Given the description of an element on the screen output the (x, y) to click on. 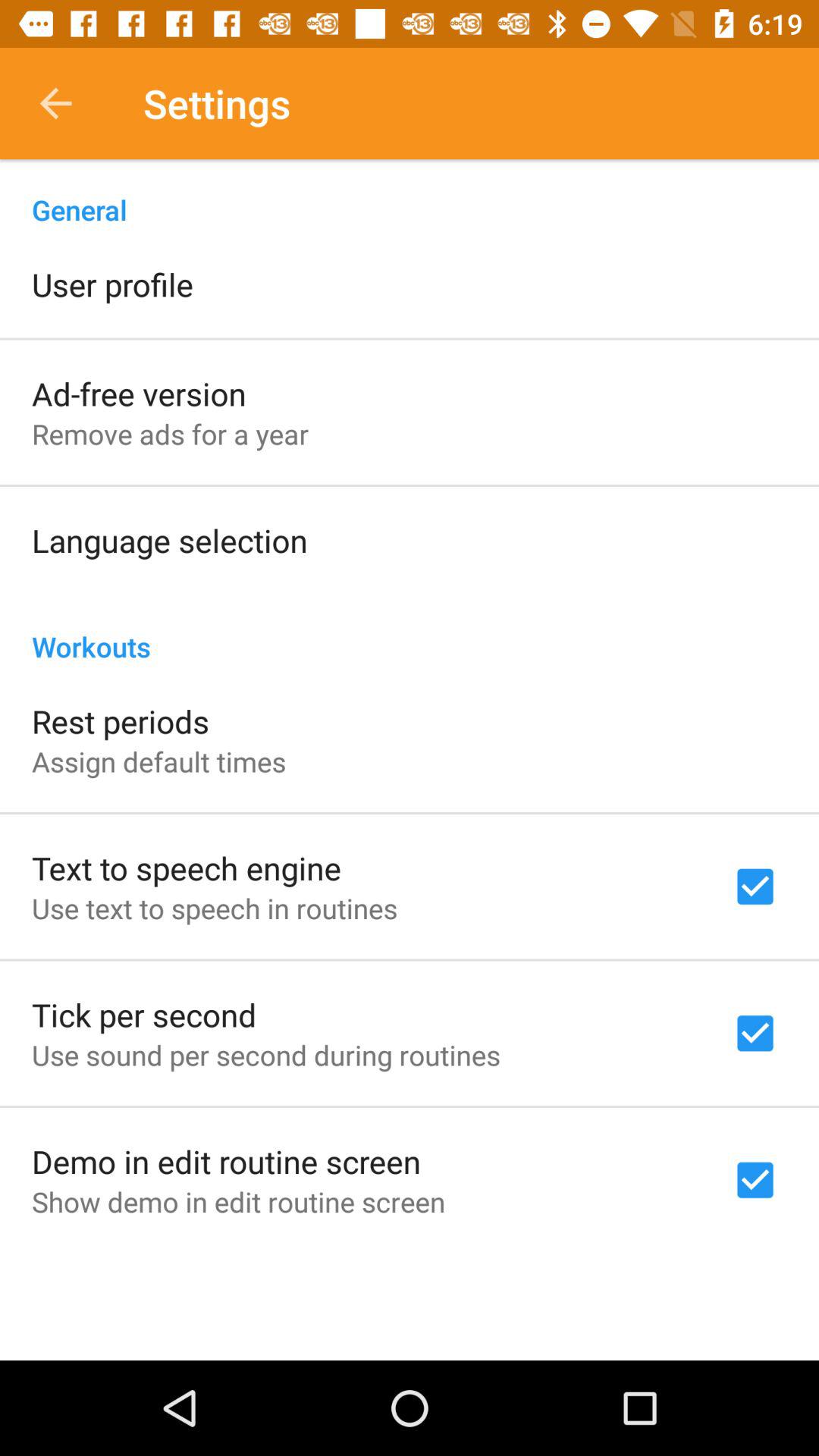
open item below the rest periods item (158, 761)
